Given the description of an element on the screen output the (x, y) to click on. 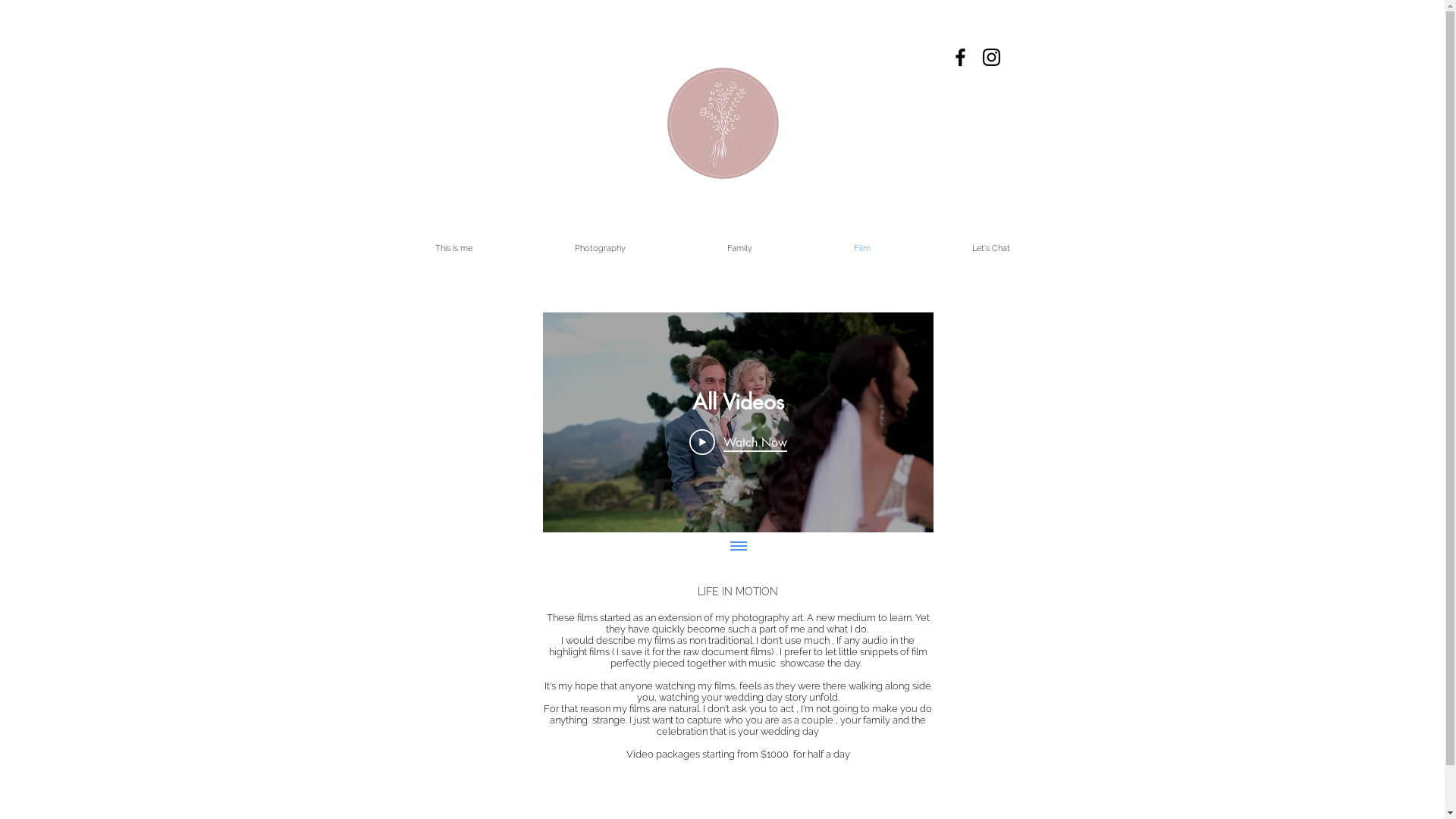
This is me Element type: text (453, 248)
Photography Element type: text (599, 248)
Let's Chat Element type: text (990, 248)
Film Element type: text (861, 248)
Family Element type: text (739, 248)
